Given the description of an element on the screen output the (x, y) to click on. 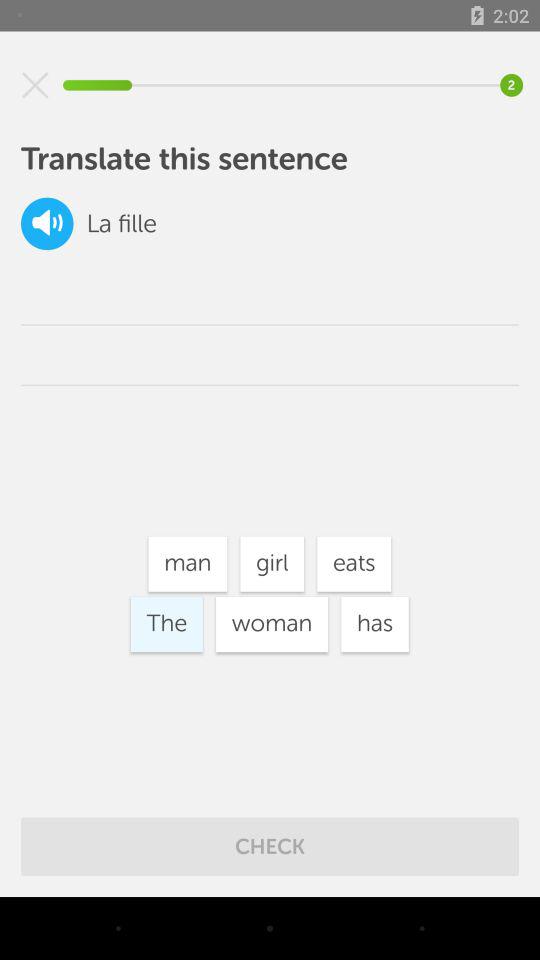
choose check icon (270, 846)
